Given the description of an element on the screen output the (x, y) to click on. 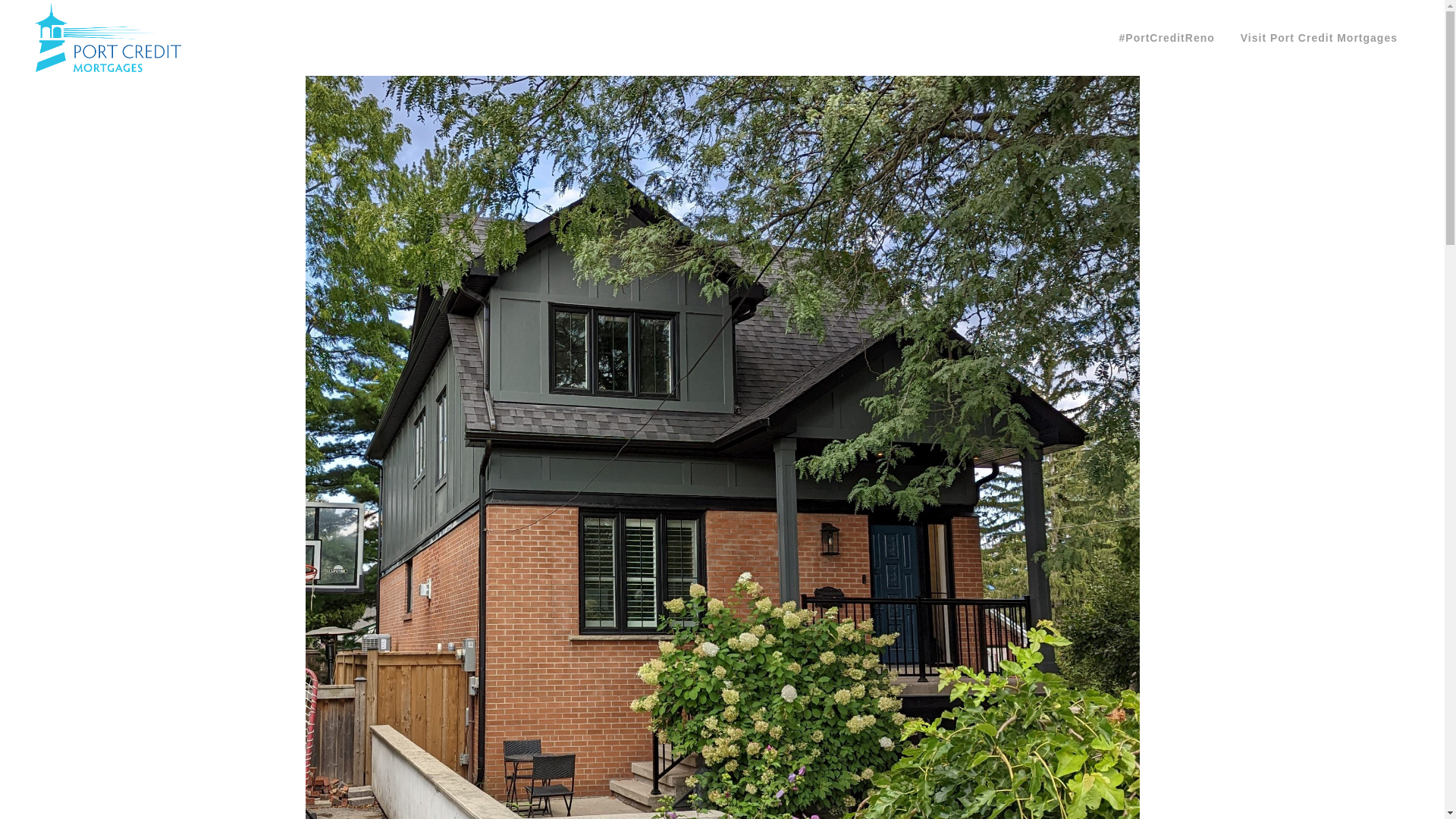
Visit Port Credit Mortgages (1318, 38)
